Given the description of an element on the screen output the (x, y) to click on. 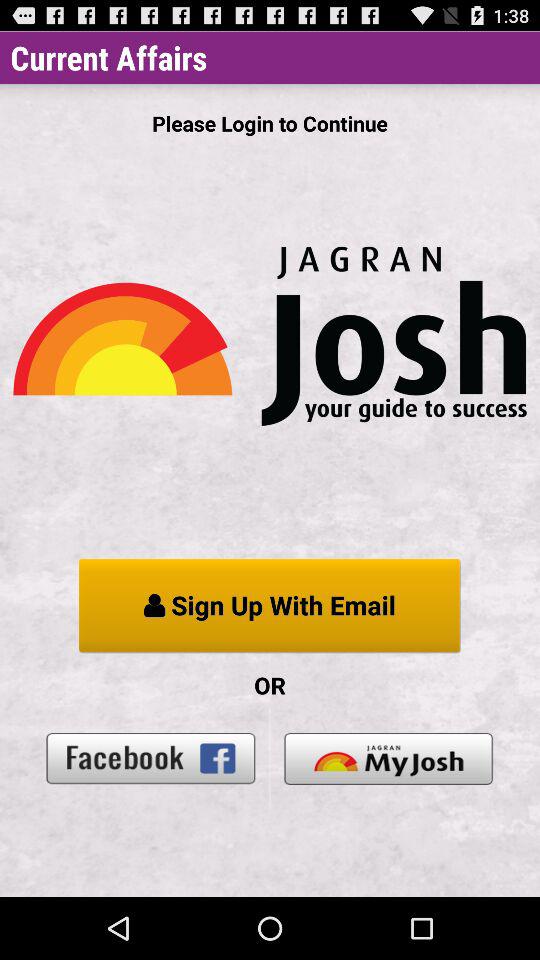
jump until the sign up with (269, 605)
